Given the description of an element on the screen output the (x, y) to click on. 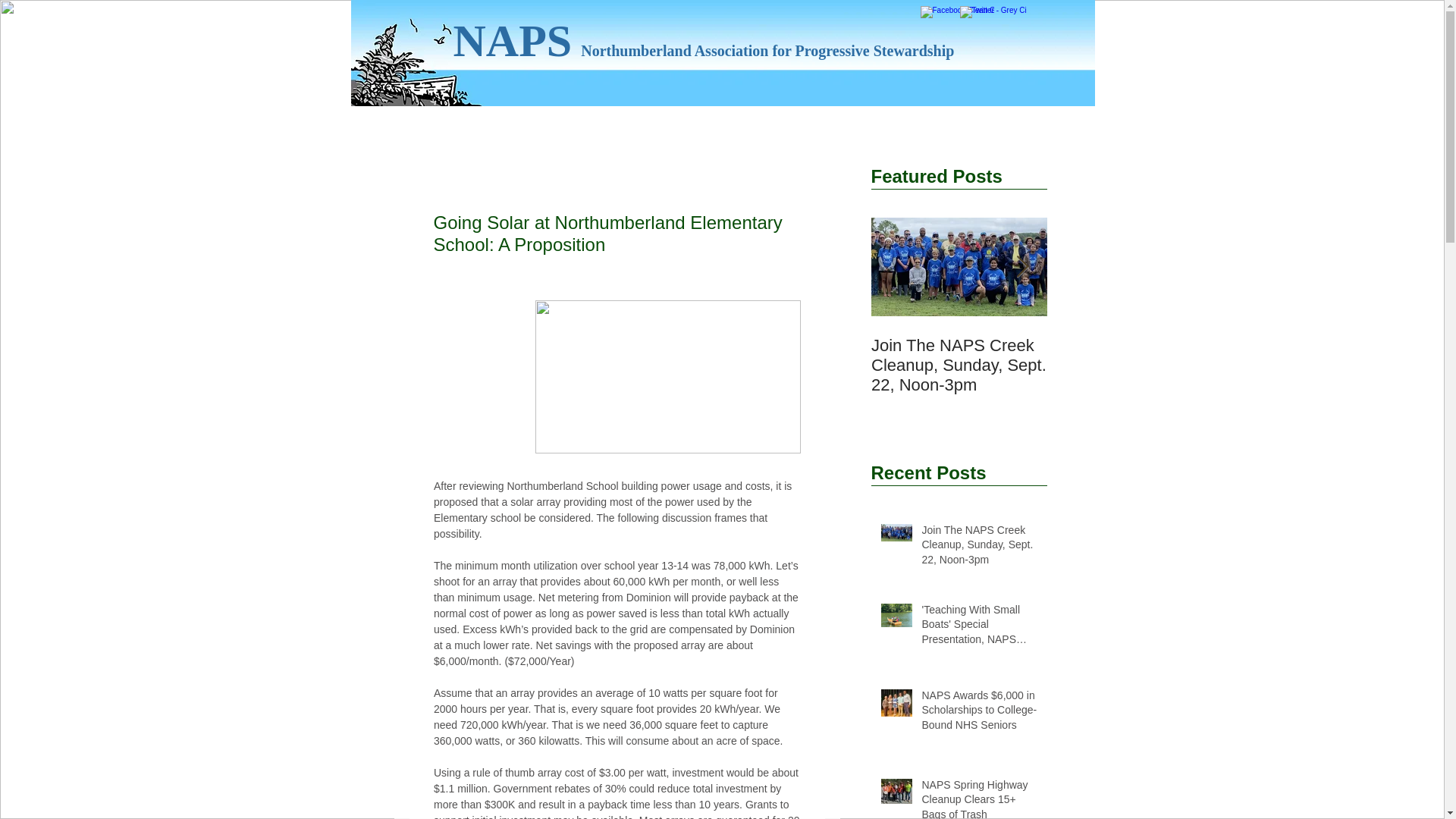
NAPS-Banner-2017-NEW.jpg (722, 53)
Join The NAPS Creek Cleanup, Sunday, Sept. 22, Noon-3pm (979, 548)
Northumberland Association for Progressive Stewardship (766, 50)
NAPS (512, 40)
Join The NAPS Creek Cleanup, Sunday, Sept. 22, Noon-3pm (958, 364)
